Given the description of an element on the screen output the (x, y) to click on. 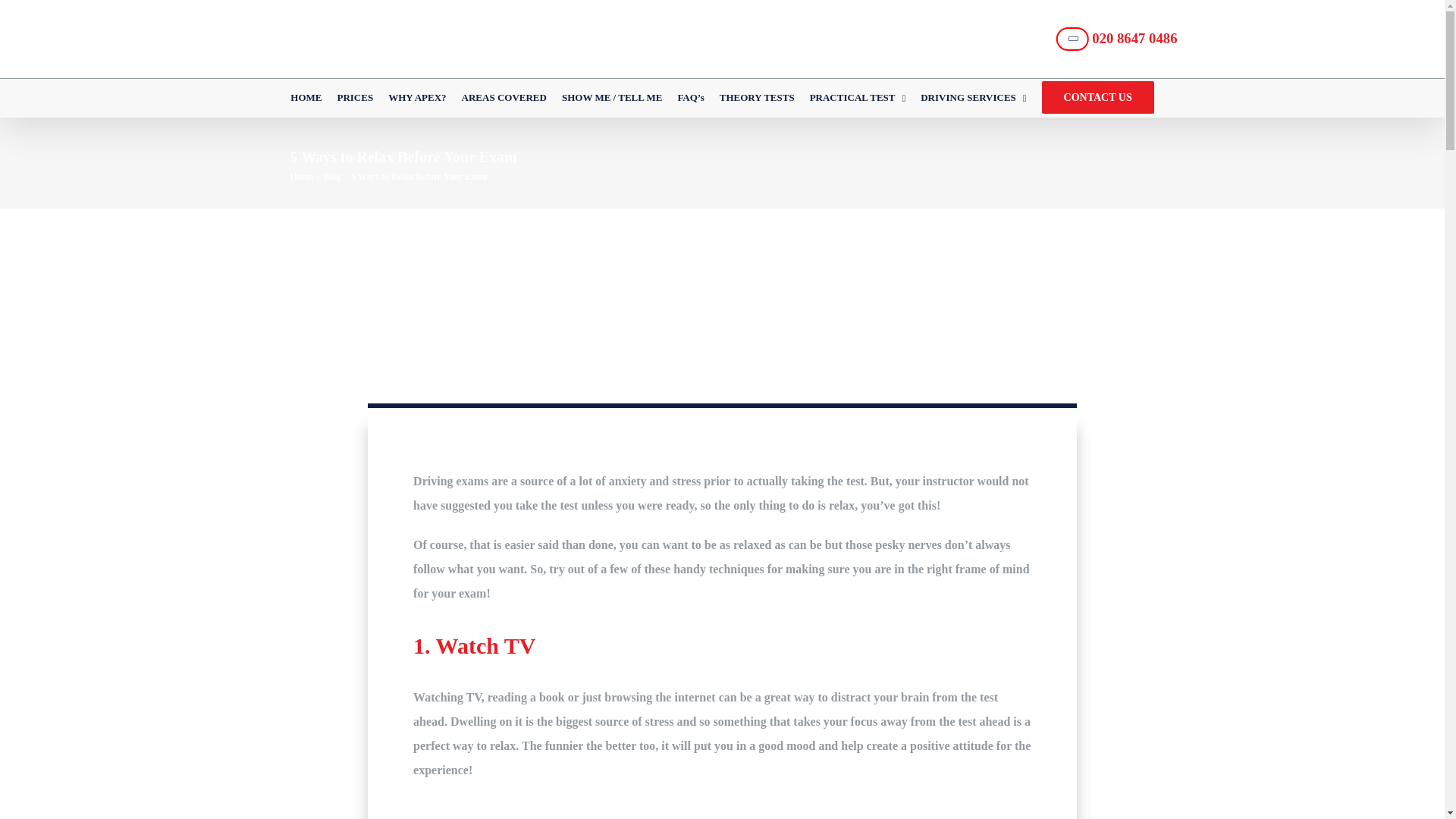
PRACTICAL TEST (857, 97)
Home (301, 176)
Blog (331, 176)
AREAS COVERED (504, 97)
WHY APEX? (416, 97)
PRICES (354, 97)
CONTACT US (1098, 97)
020 8647 0486 (1118, 38)
DRIVING SERVICES (973, 97)
THEORY TESTS (756, 97)
